Given the description of an element on the screen output the (x, y) to click on. 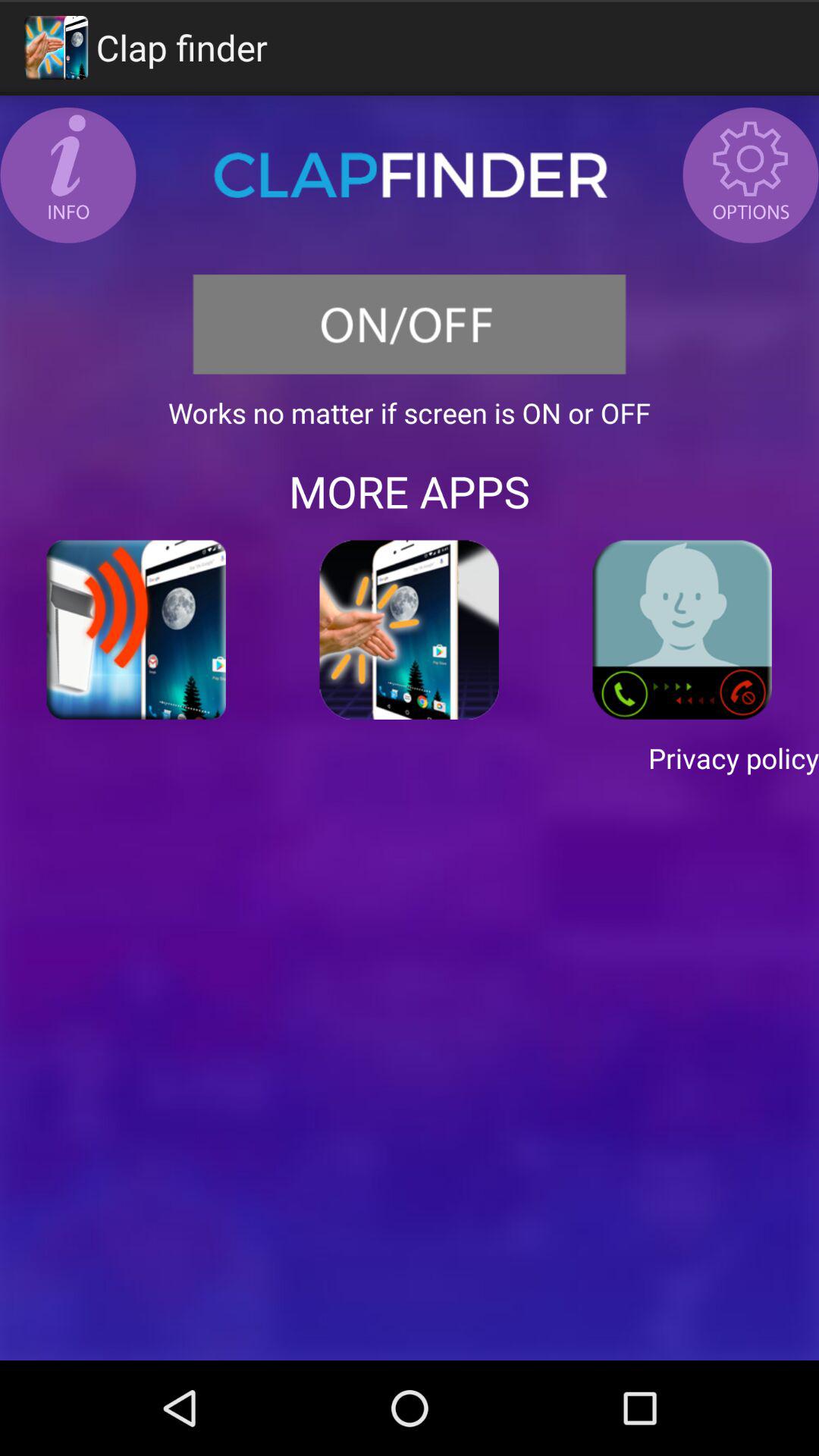
press icon below more apps icon (136, 629)
